Given the description of an element on the screen output the (x, y) to click on. 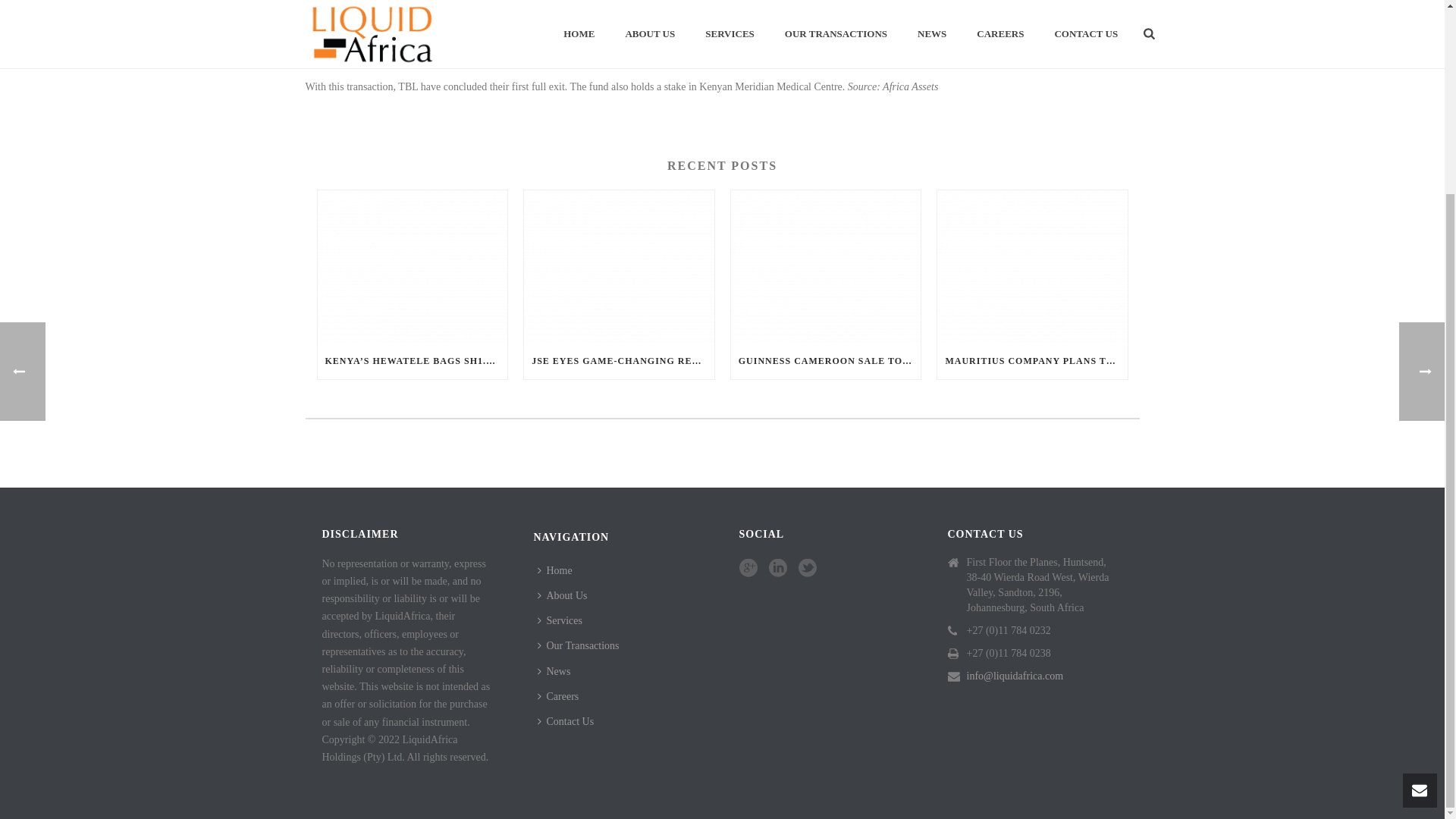
Home (558, 570)
Follow Us on linkedin (777, 568)
Follow Us on twitter (806, 568)
Mauritius company plans to buy off Cipla Quality Chemicals (1031, 266)
MAURITIUS COMPANY PLANS TO BUY OFF CIPLA QUALITY CHEMICALS (1031, 361)
About Us (566, 595)
